Given the description of an element on the screen output the (x, y) to click on. 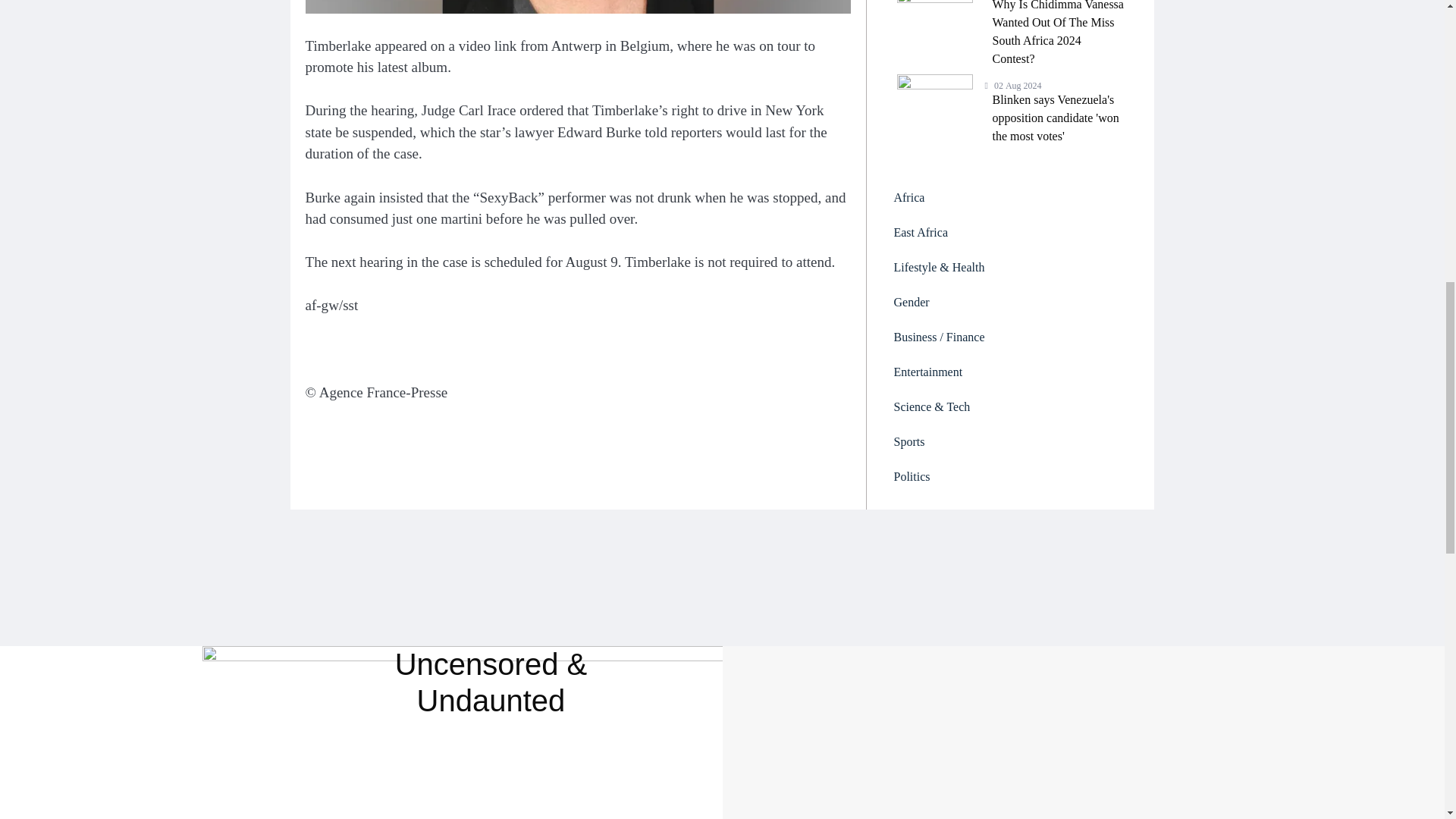
Gender (1010, 302)
Entertainment (1010, 371)
Africa (1010, 197)
East Africa (1010, 232)
